Given the description of an element on the screen output the (x, y) to click on. 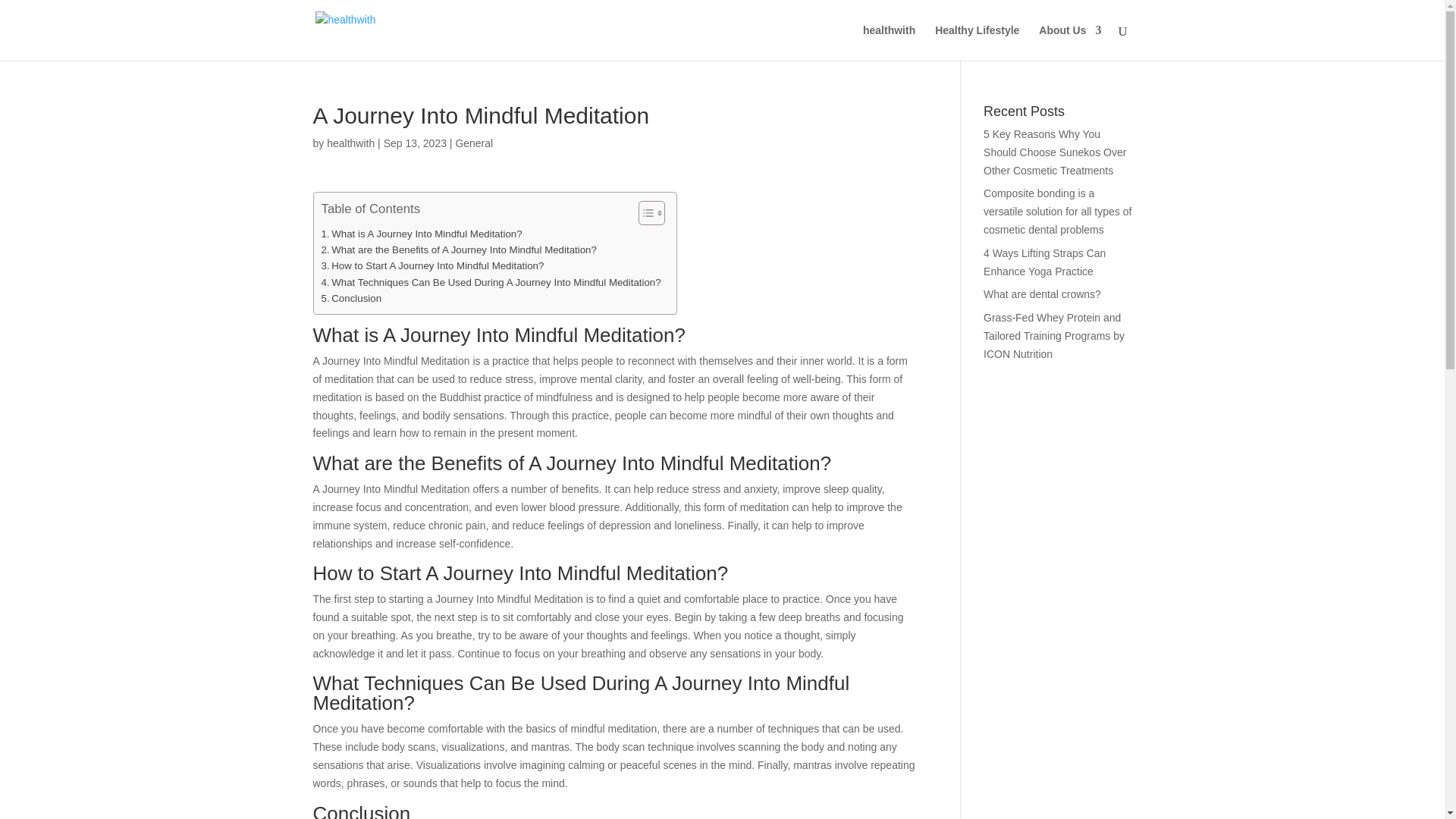
Posts by healthwith (350, 143)
What is A Journey Into Mindful Meditation? (421, 233)
What is A Journey Into Mindful Meditation? (421, 233)
How to Start A Journey Into Mindful Meditation? (432, 265)
What are the Benefits of A Journey Into Mindful Meditation? (458, 249)
General (473, 143)
